Given the description of an element on the screen output the (x, y) to click on. 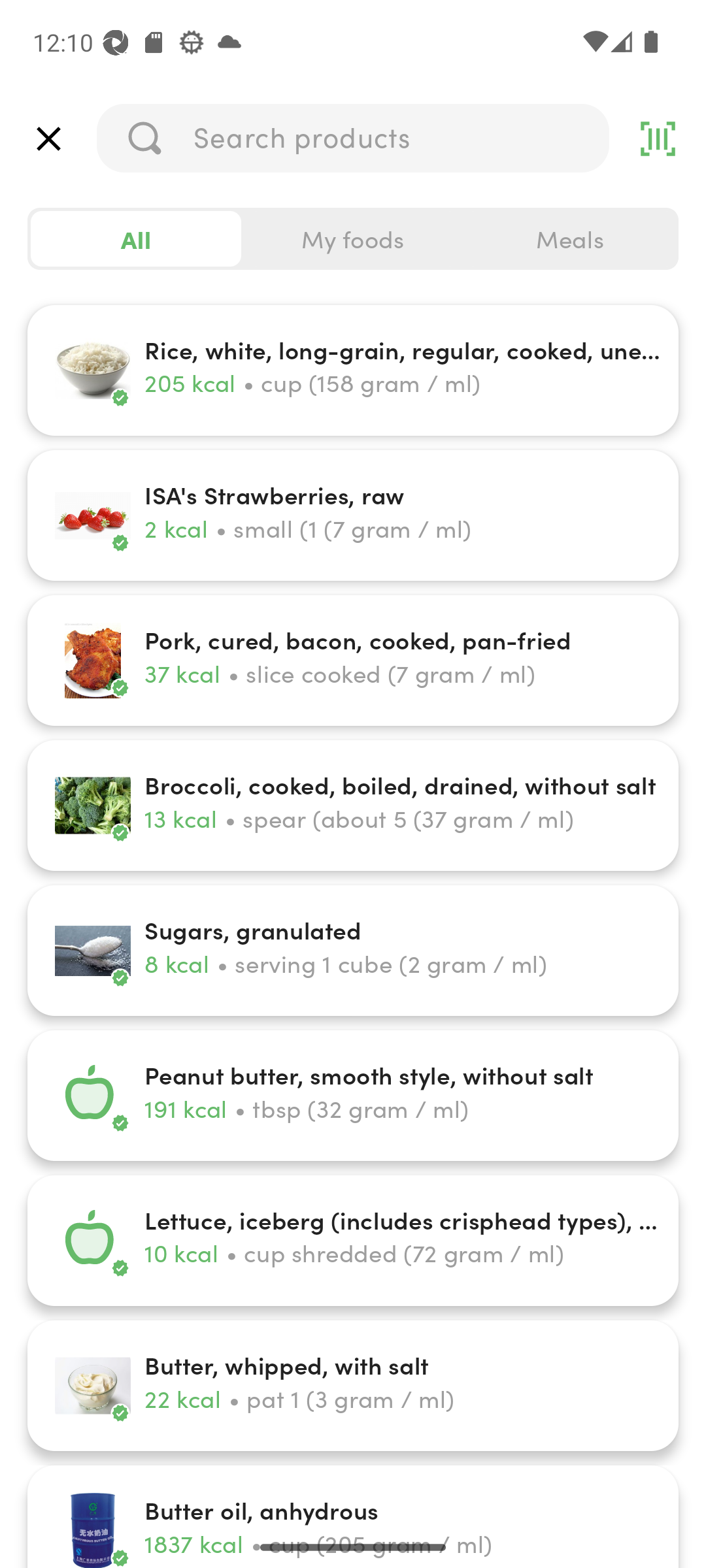
top_left_action (48, 138)
top_right_action (658, 138)
My foods (352, 238)
Meals (569, 238)
